Given the description of an element on the screen output the (x, y) to click on. 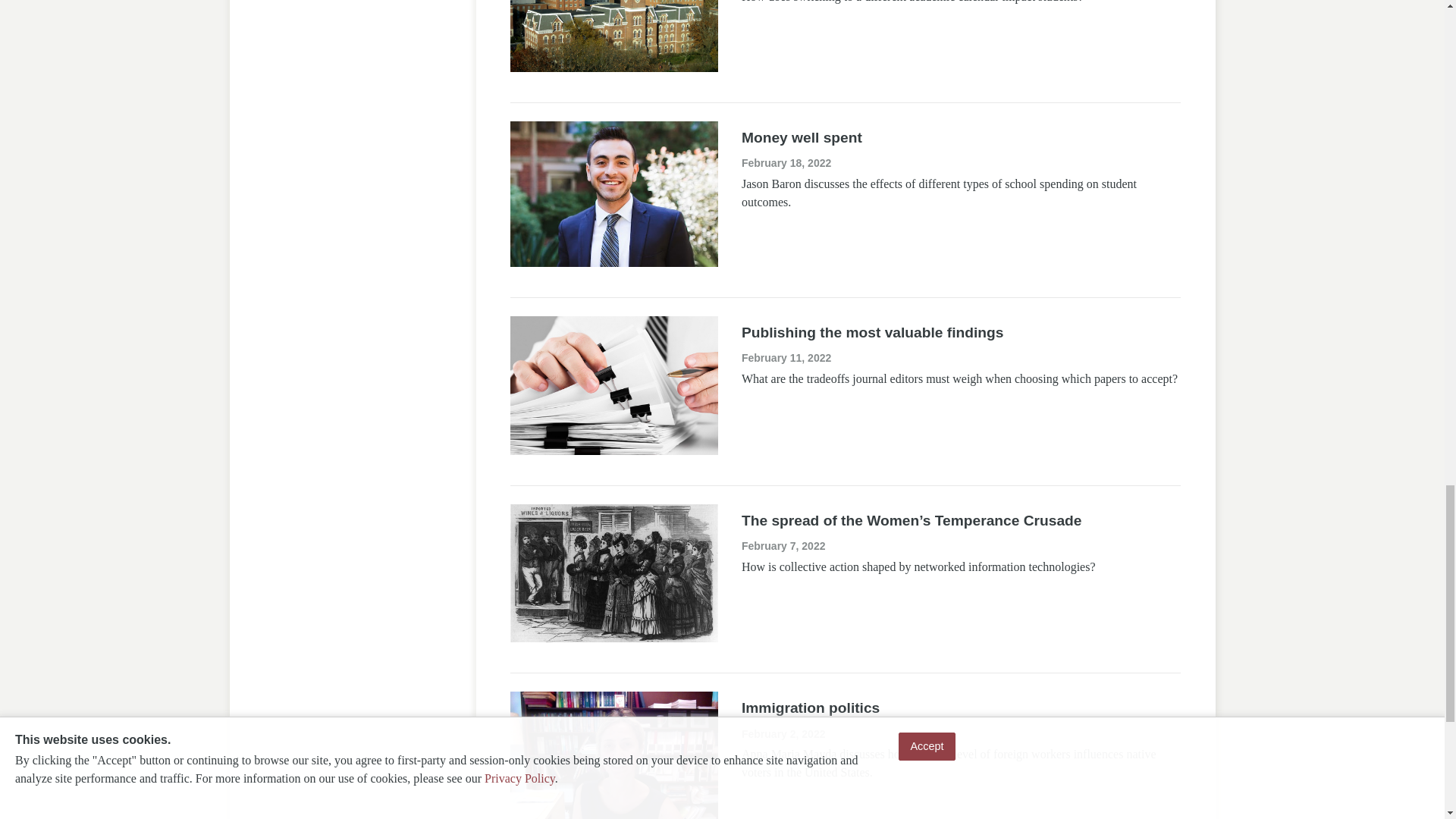
Immigration politics (810, 707)
Money well spent (801, 137)
Publishing the most valuable findings (872, 332)
